Given the description of an element on the screen output the (x, y) to click on. 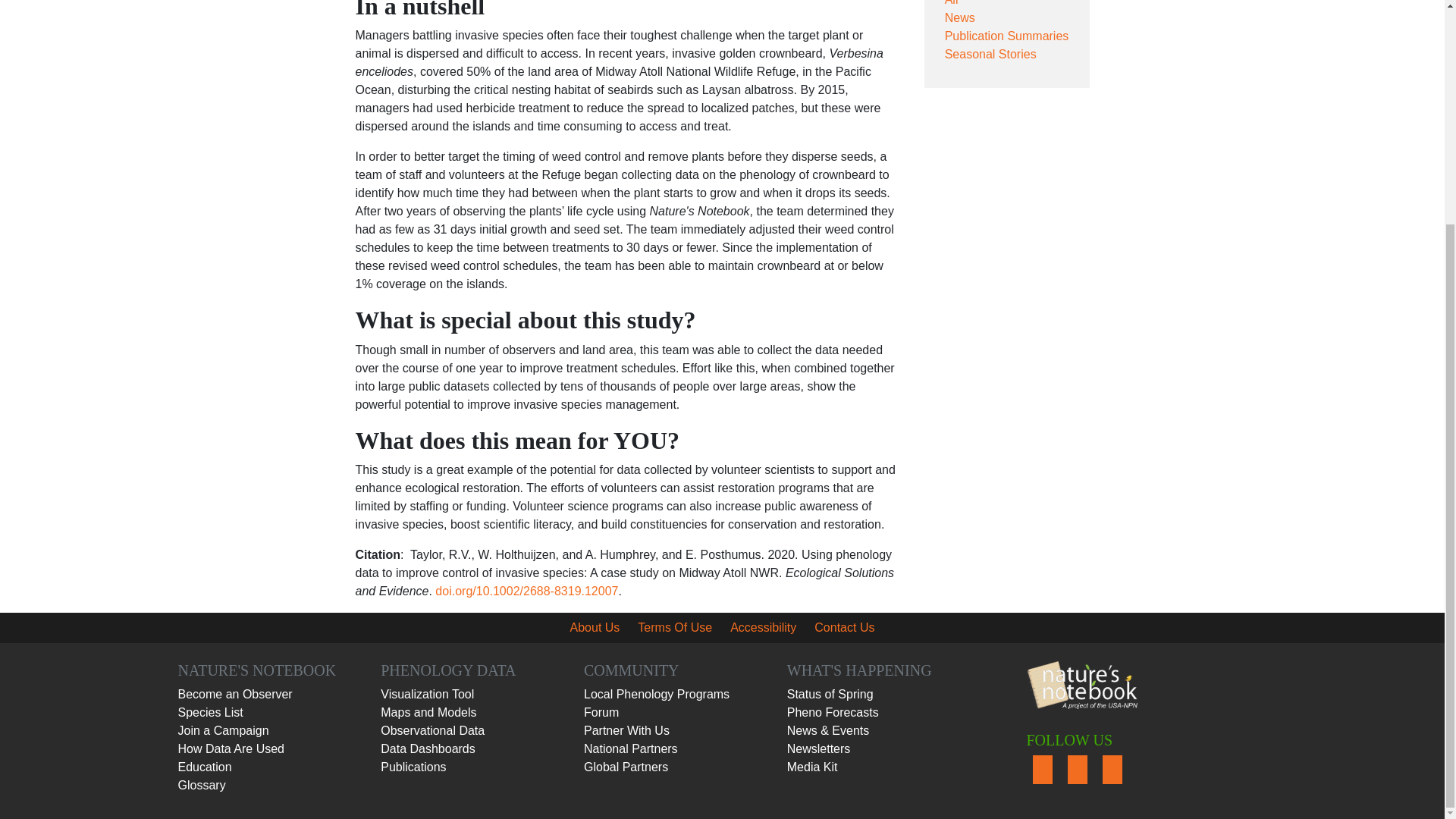
Species List (210, 712)
Share to Linkedin (1005, 123)
Join a Campaign (222, 730)
Seasonal Stories (990, 53)
All (951, 2)
News (959, 17)
How Data Are Used (230, 748)
Share to Email (1034, 123)
Share to Twitter (977, 123)
Accessibility (763, 626)
